Given the description of an element on the screen output the (x, y) to click on. 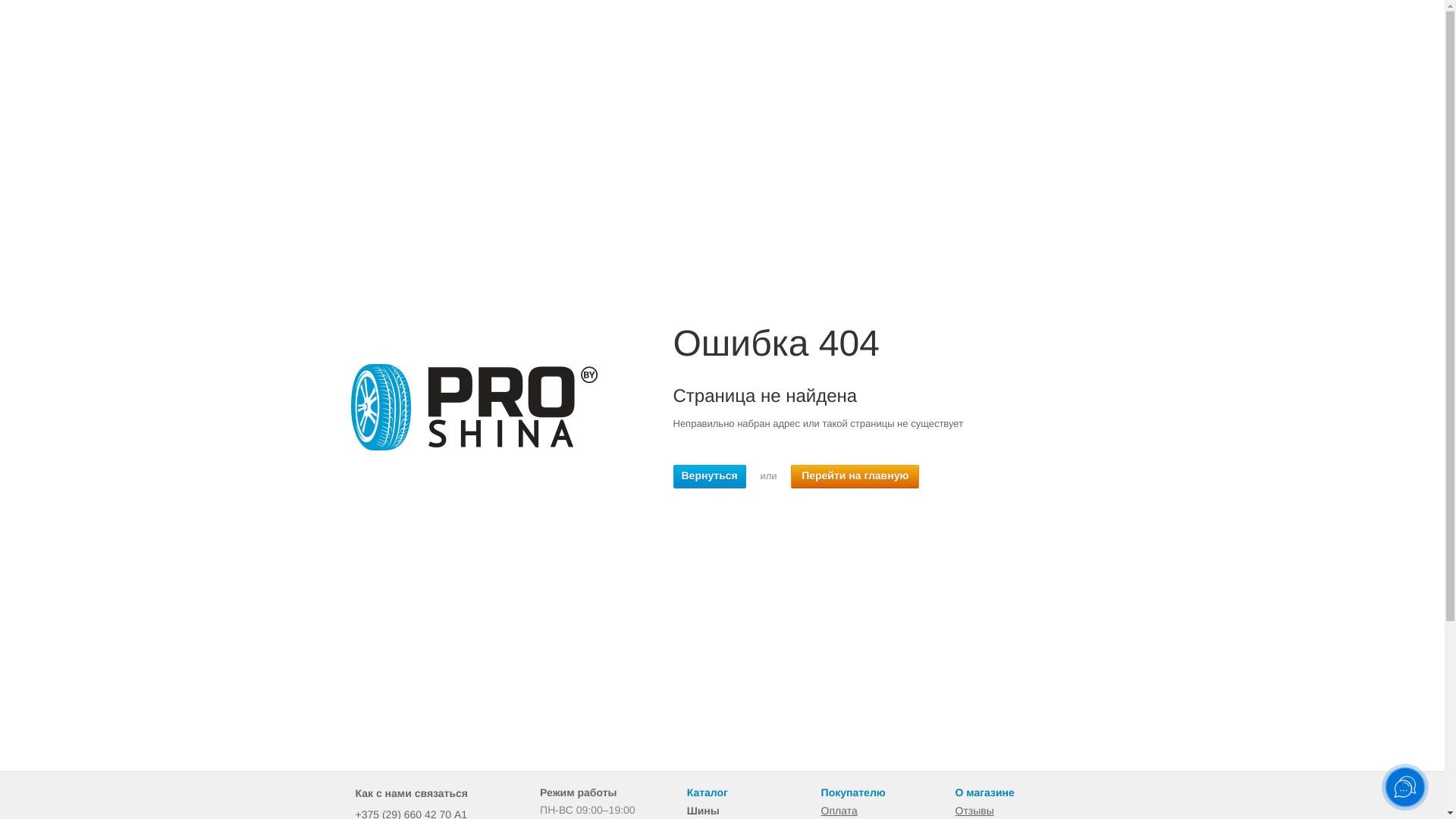
404 Element type: hover (473, 406)
